Given the description of an element on the screen output the (x, y) to click on. 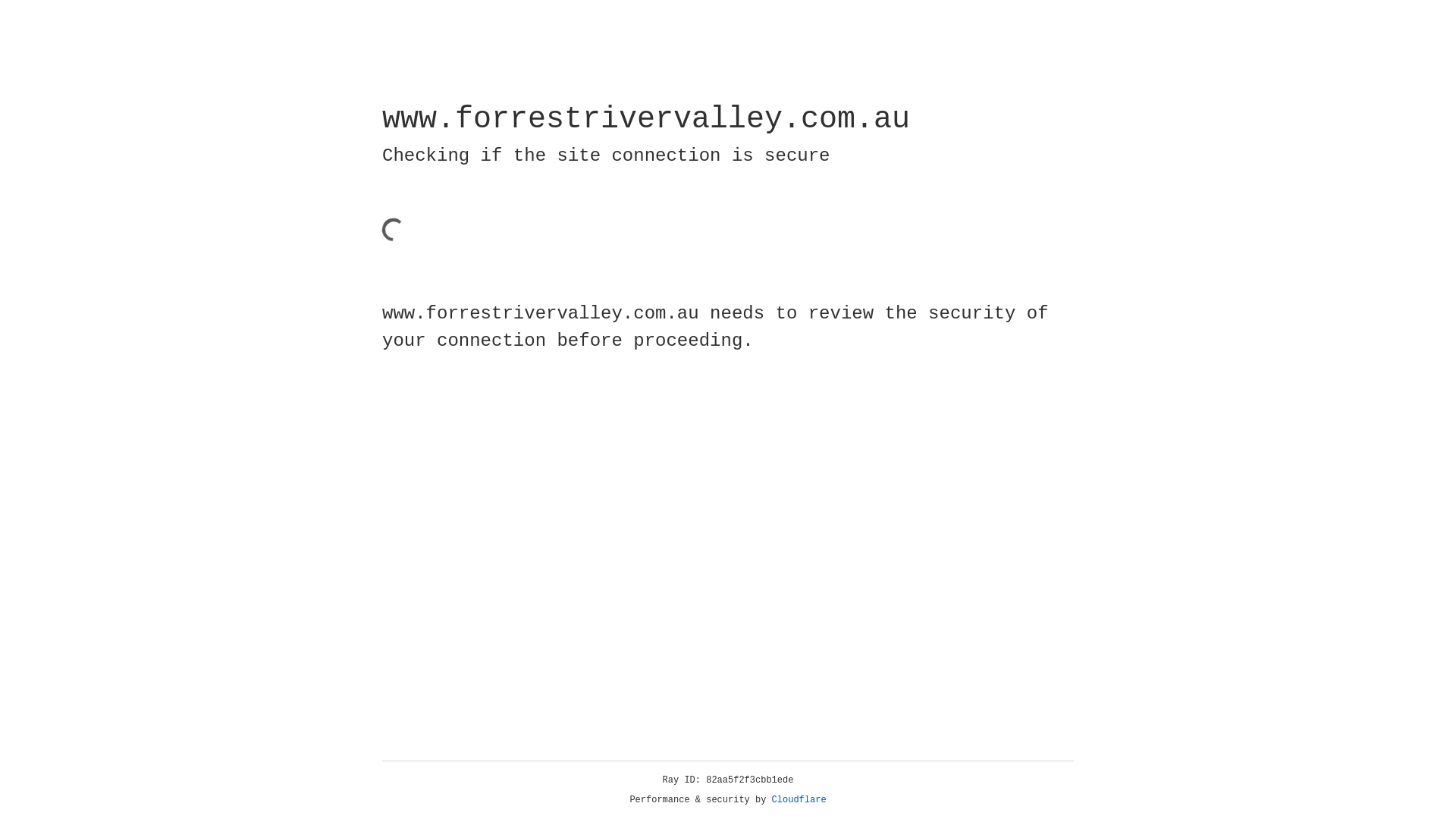
Cloudflare Element type: text (798, 799)
